Given the description of an element on the screen output the (x, y) to click on. 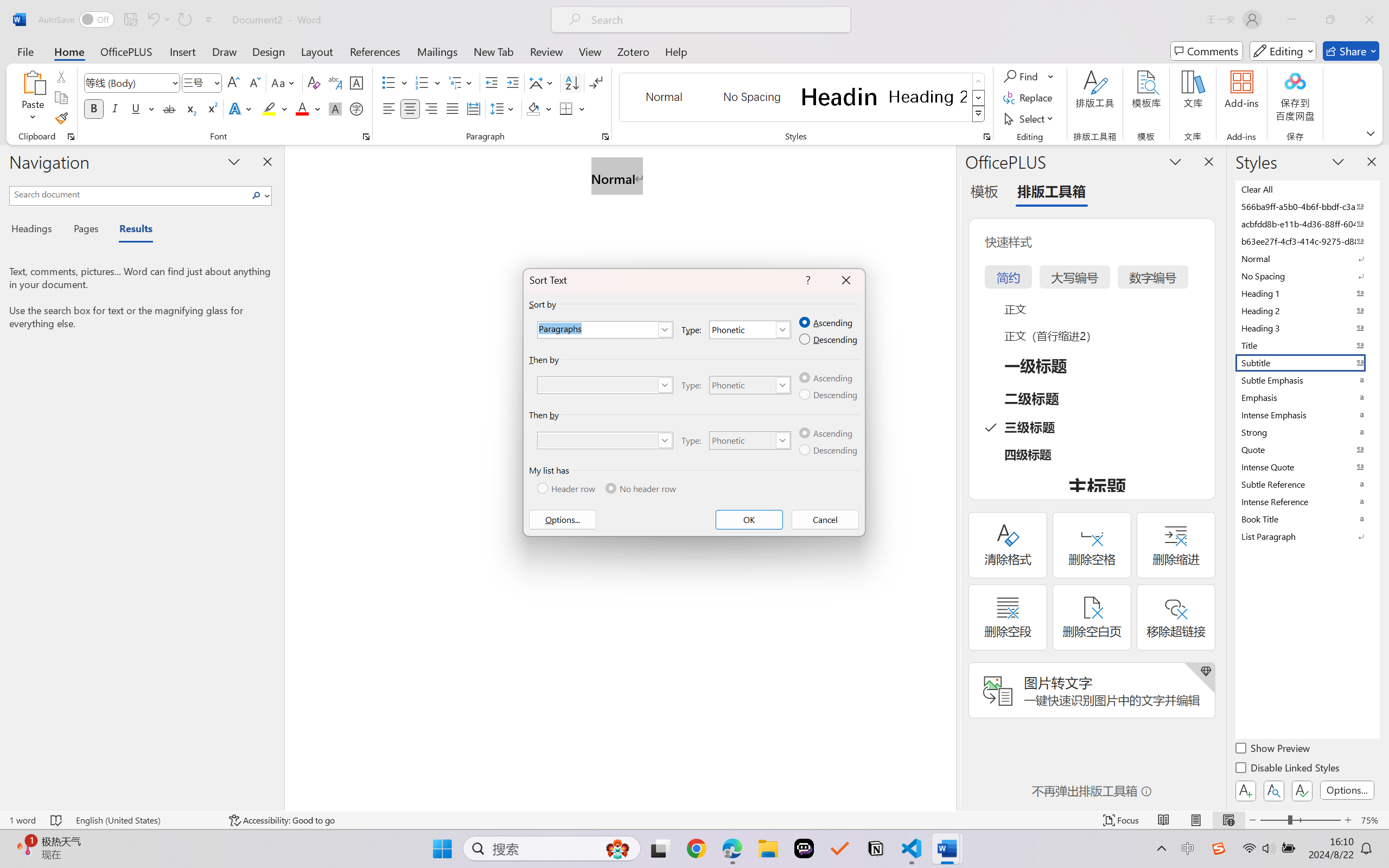
Customize Quick Access Toolbar (208, 19)
Normal (1306, 258)
Shading RGB(0, 0, 0) (533, 108)
Help (675, 51)
AutomationID: QuickStylesGallery (802, 97)
Minimize (1291, 19)
Cancel (825, 519)
Shading (539, 108)
Header row (567, 488)
Phonetic Guide... (334, 82)
Row Down (978, 97)
